Given the description of an element on the screen output the (x, y) to click on. 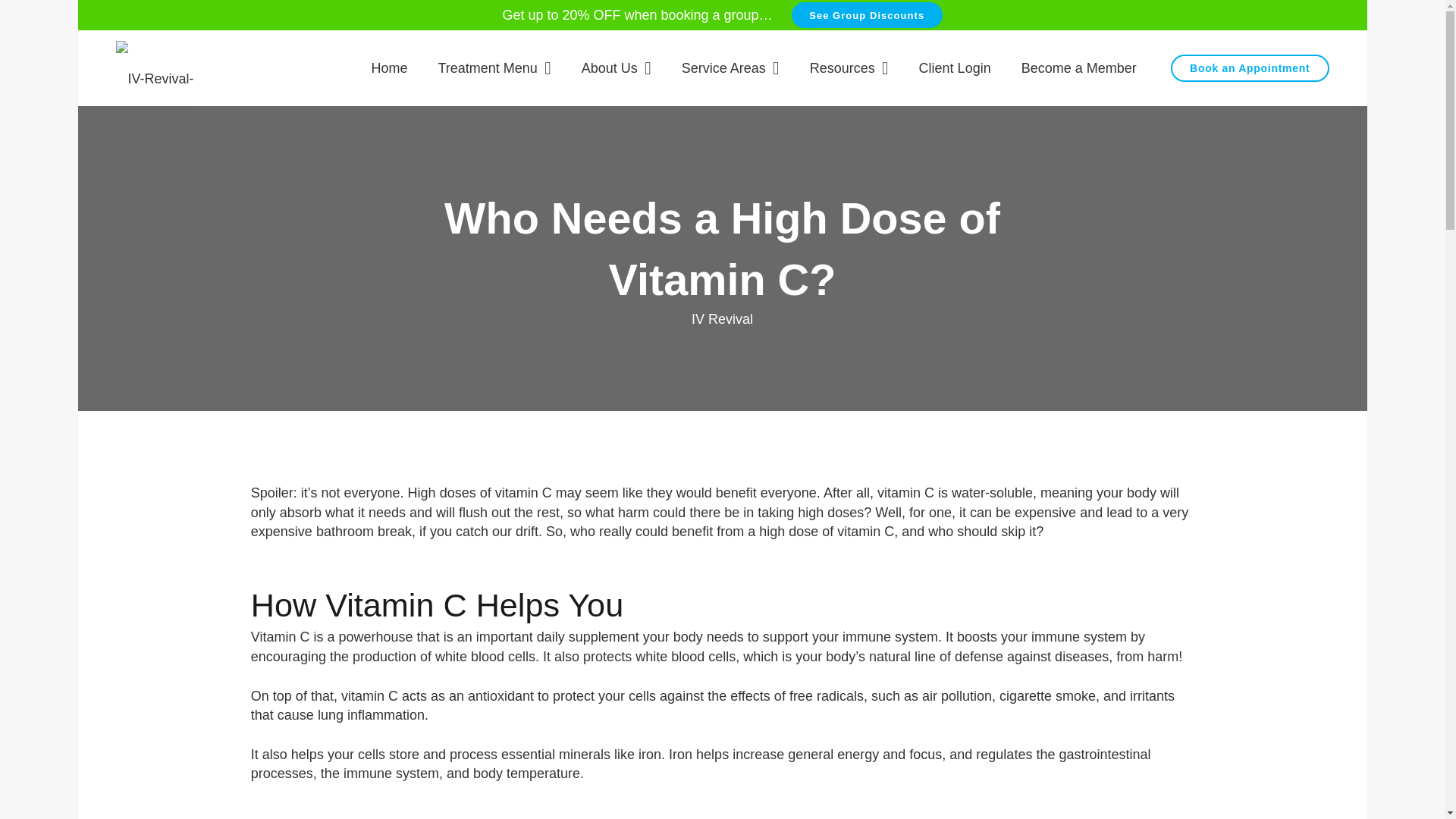
See Group Discounts (867, 14)
Resources (849, 68)
Service Areas (730, 68)
Book an Appointment (1249, 67)
Become a Member (1078, 68)
Treatment Menu (494, 68)
Client Login (955, 68)
About Us (616, 68)
IV Revival (722, 319)
